Given the description of an element on the screen output the (x, y) to click on. 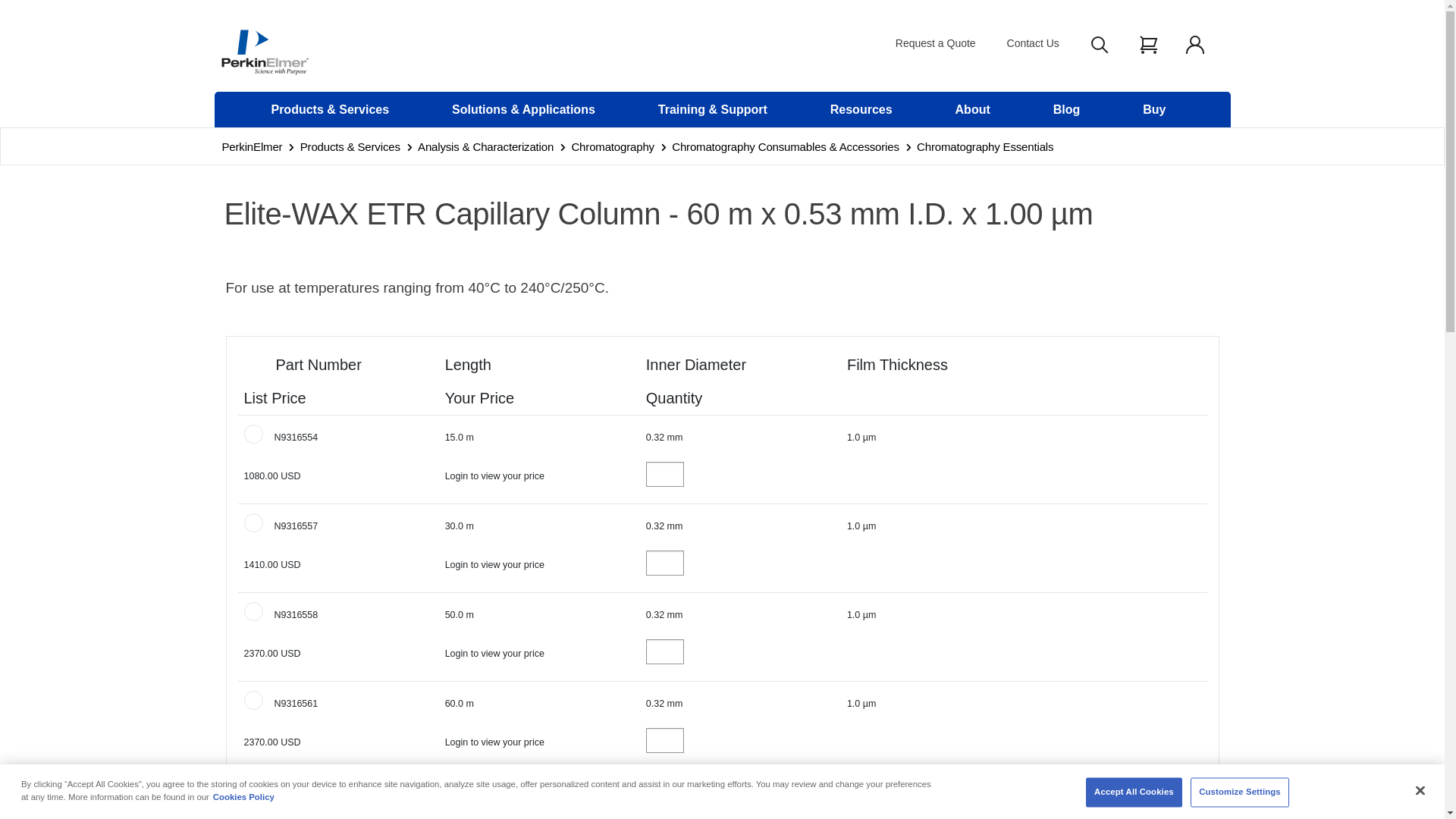
cart (1149, 36)
cart (1148, 44)
Request a Quote (935, 42)
account (1195, 44)
Contact Us (1033, 42)
Search (1099, 44)
